Given the description of an element on the screen output the (x, y) to click on. 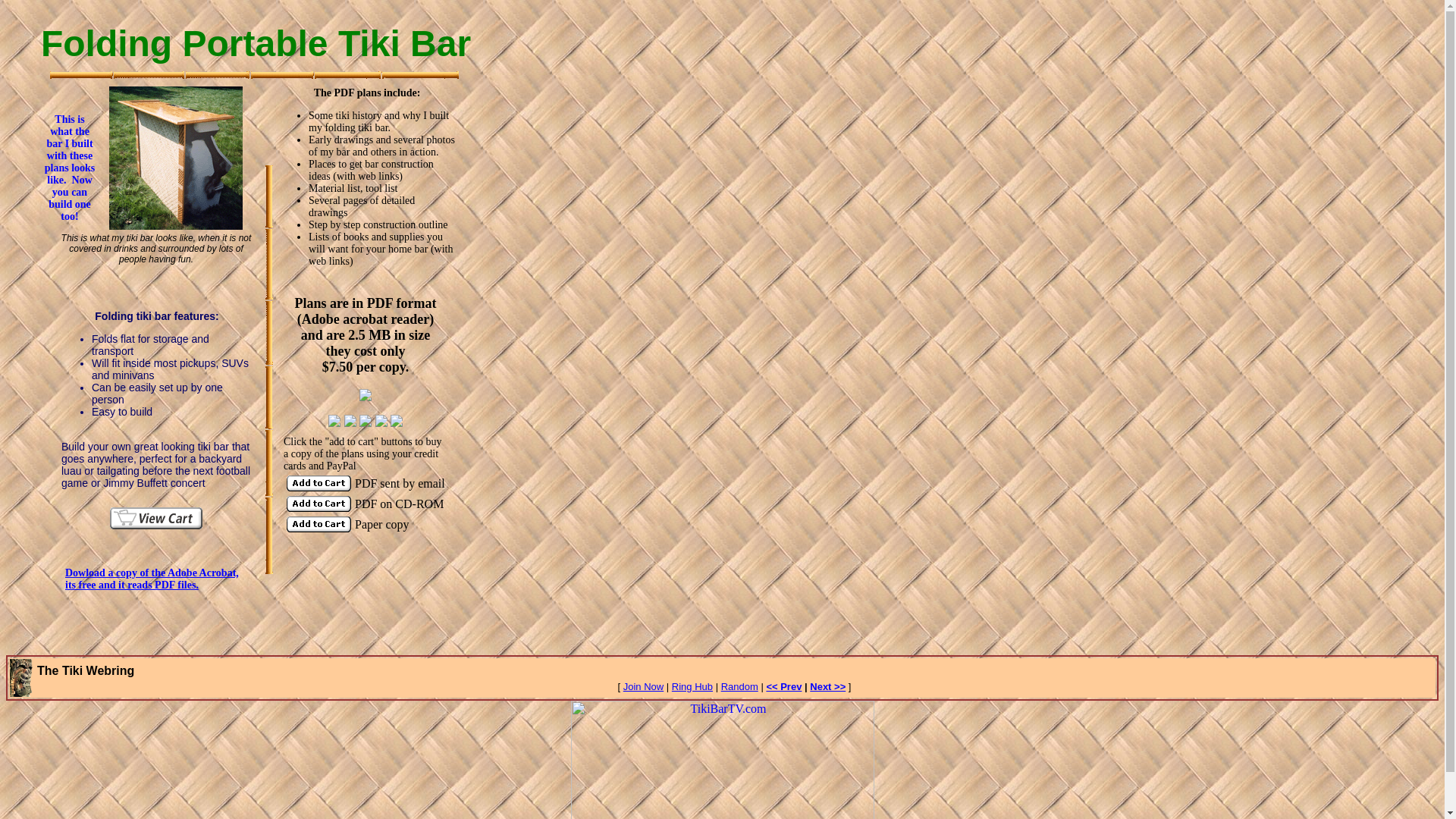
Random (739, 686)
Join Now (643, 686)
Ring Hub (692, 686)
